Given the description of an element on the screen output the (x, y) to click on. 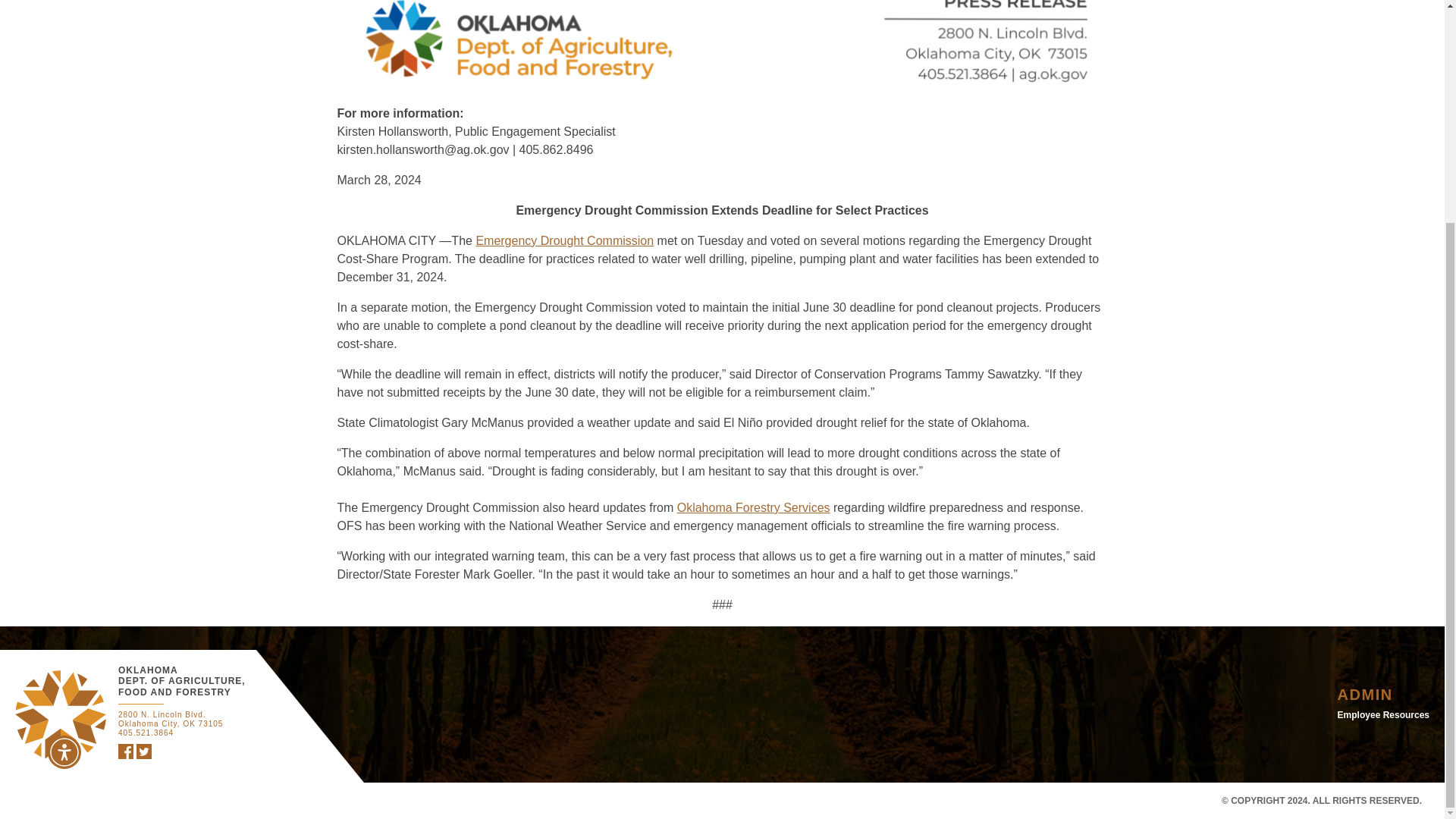
Accessibility Menu (64, 456)
